Given the description of an element on the screen output the (x, y) to click on. 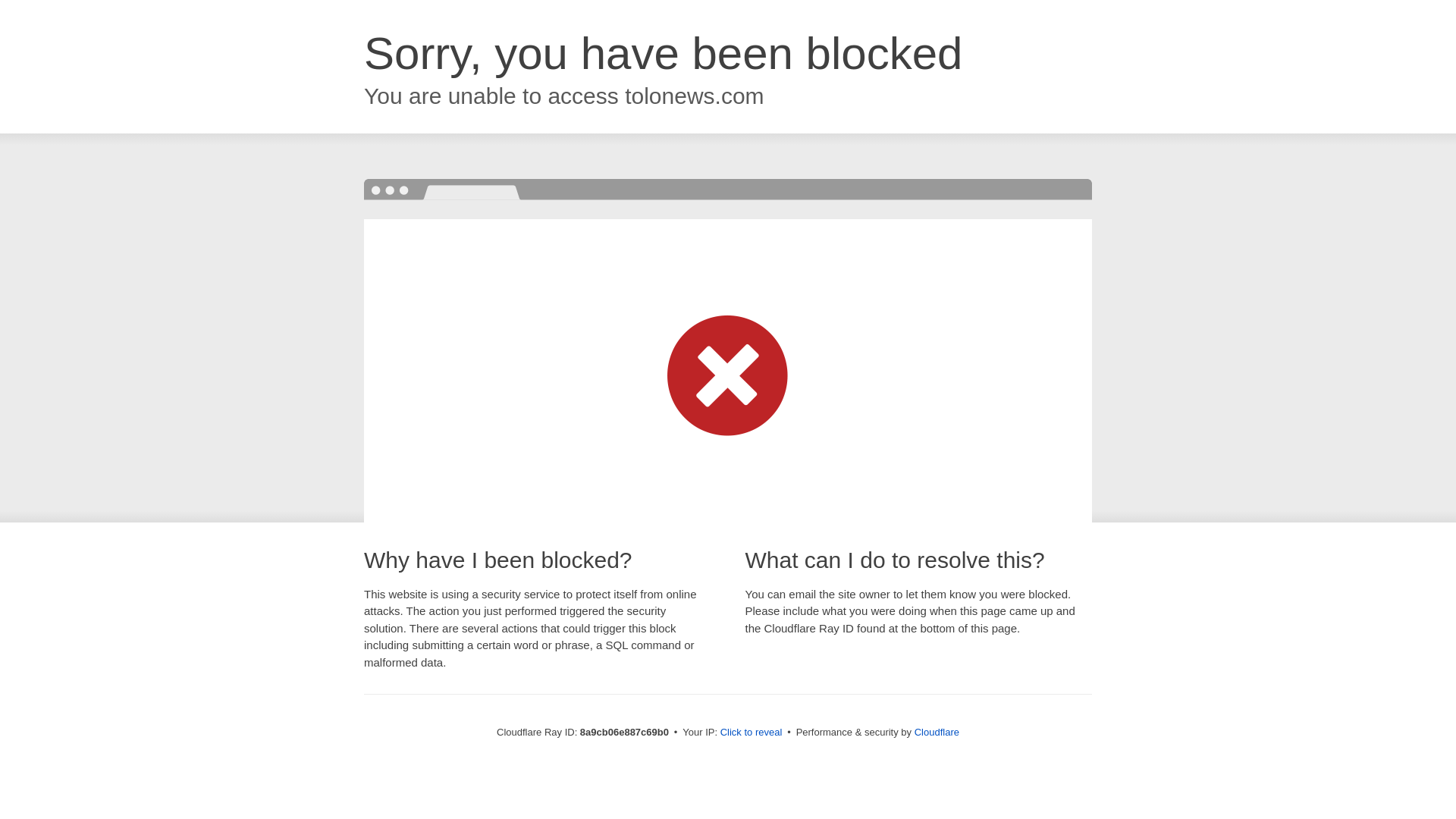
Click to reveal (751, 732)
Cloudflare (936, 731)
